Given the description of an element on the screen output the (x, y) to click on. 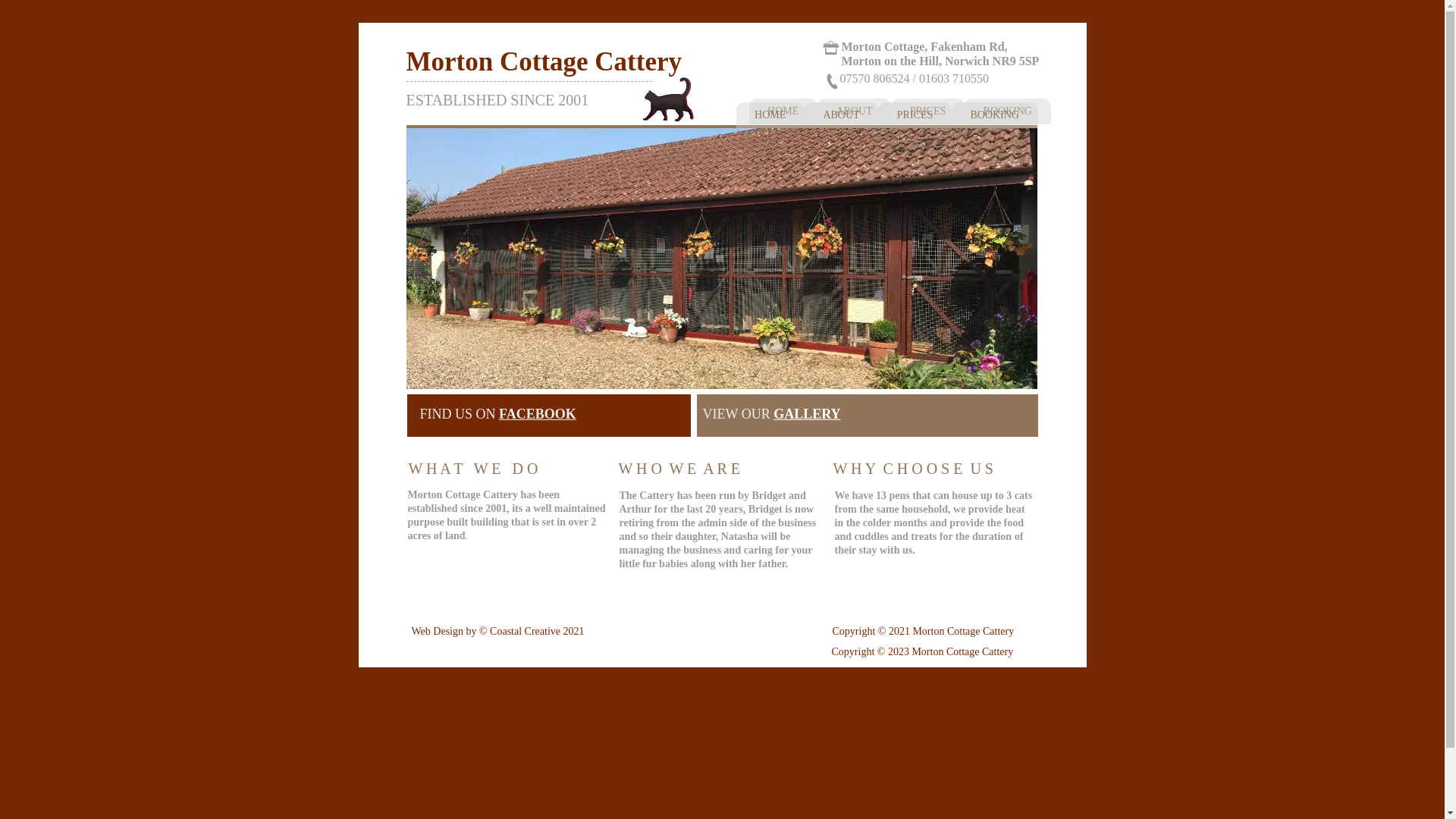
GALLERY (806, 413)
BOOKING (1007, 111)
PRICES (927, 111)
PRICES (914, 114)
ABOUT (853, 111)
HOME (769, 114)
HOME (782, 111)
ABOUT (841, 114)
FACEBOOK (537, 413)
